Given the description of an element on the screen output the (x, y) to click on. 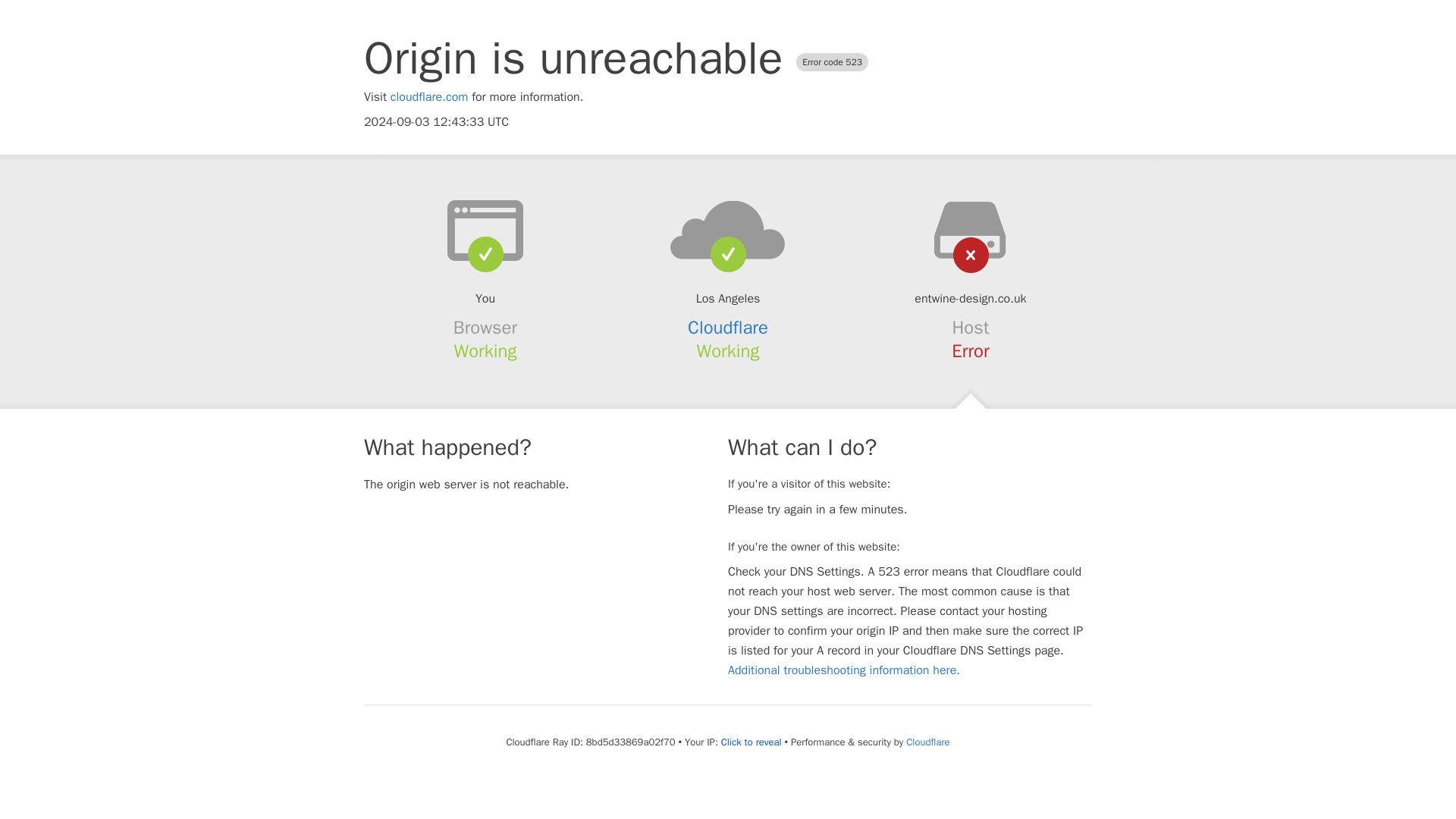
cloudflare.com (429, 96)
Cloudflare (727, 327)
Cloudflare (927, 741)
Click to reveal (750, 742)
Additional troubleshooting information here. (843, 670)
